Given the description of an element on the screen output the (x, y) to click on. 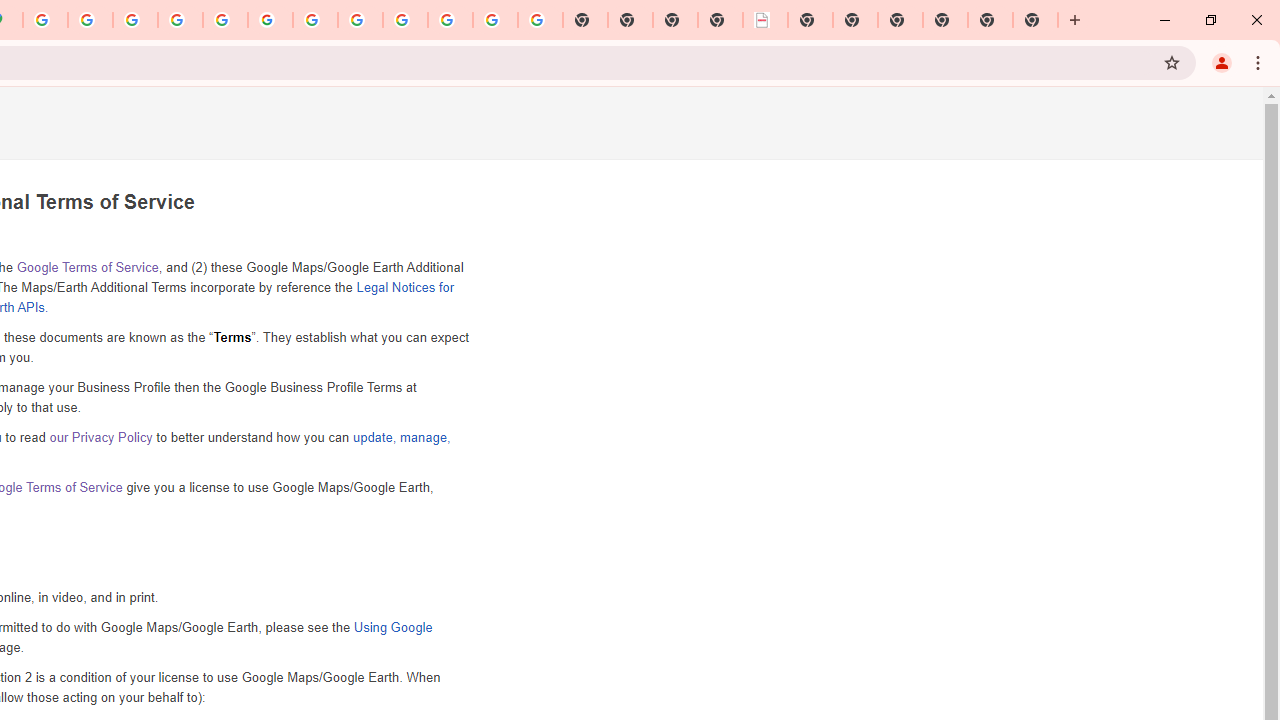
YouTube (315, 20)
New Tab (900, 20)
New Tab (1035, 20)
LAAD Defence & Security 2025 | BAE Systems (765, 20)
